Given the description of an element on the screen output the (x, y) to click on. 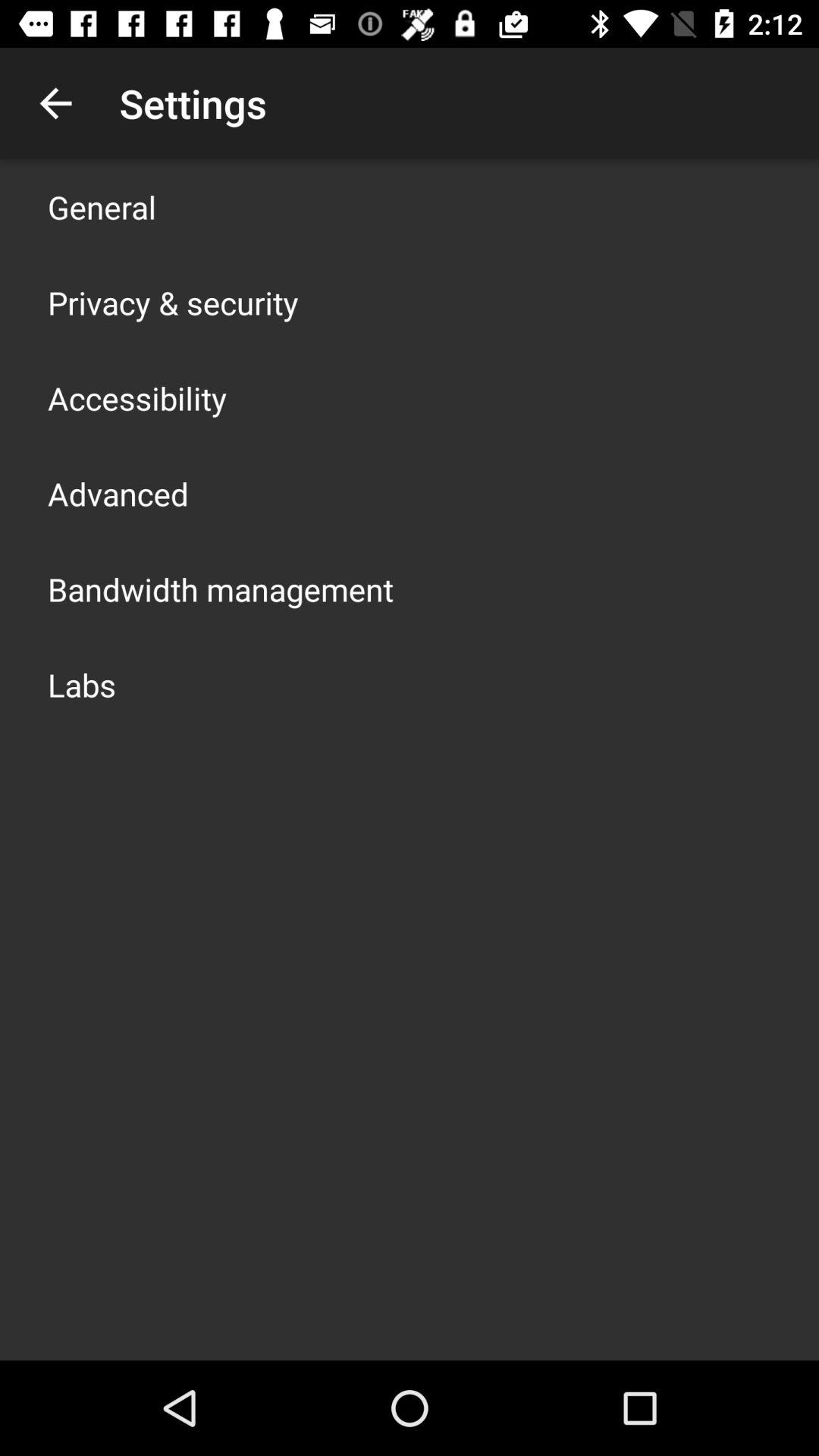
tap the privacy & security item (172, 302)
